Given the description of an element on the screen output the (x, y) to click on. 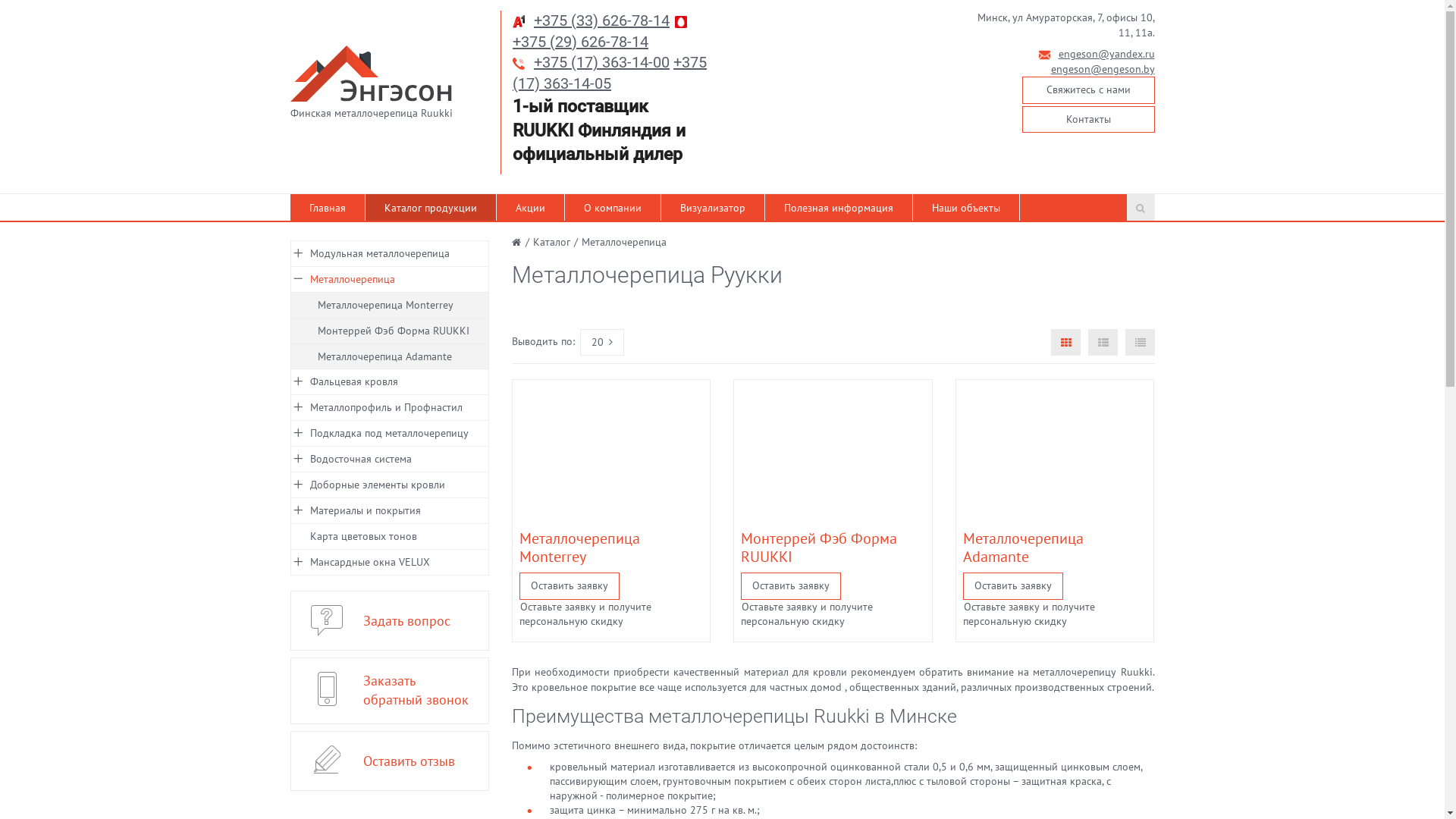
+375 (33) 626-78-14 Element type: text (601, 20)
+375 (17) 363-14-05 Element type: text (609, 72)
engeson@engeson.by Element type: text (1102, 68)
geo.png Element type: hover (965, 18)
20 Element type: text (602, 342)
+375 (17) 363-14-00 Element type: text (601, 62)
mail.png Element type: hover (1044, 54)
engeson@yandex.ru Element type: text (1106, 53)
+375 (29) 626-78-14 Element type: text (580, 41)
